Given the description of an element on the screen output the (x, y) to click on. 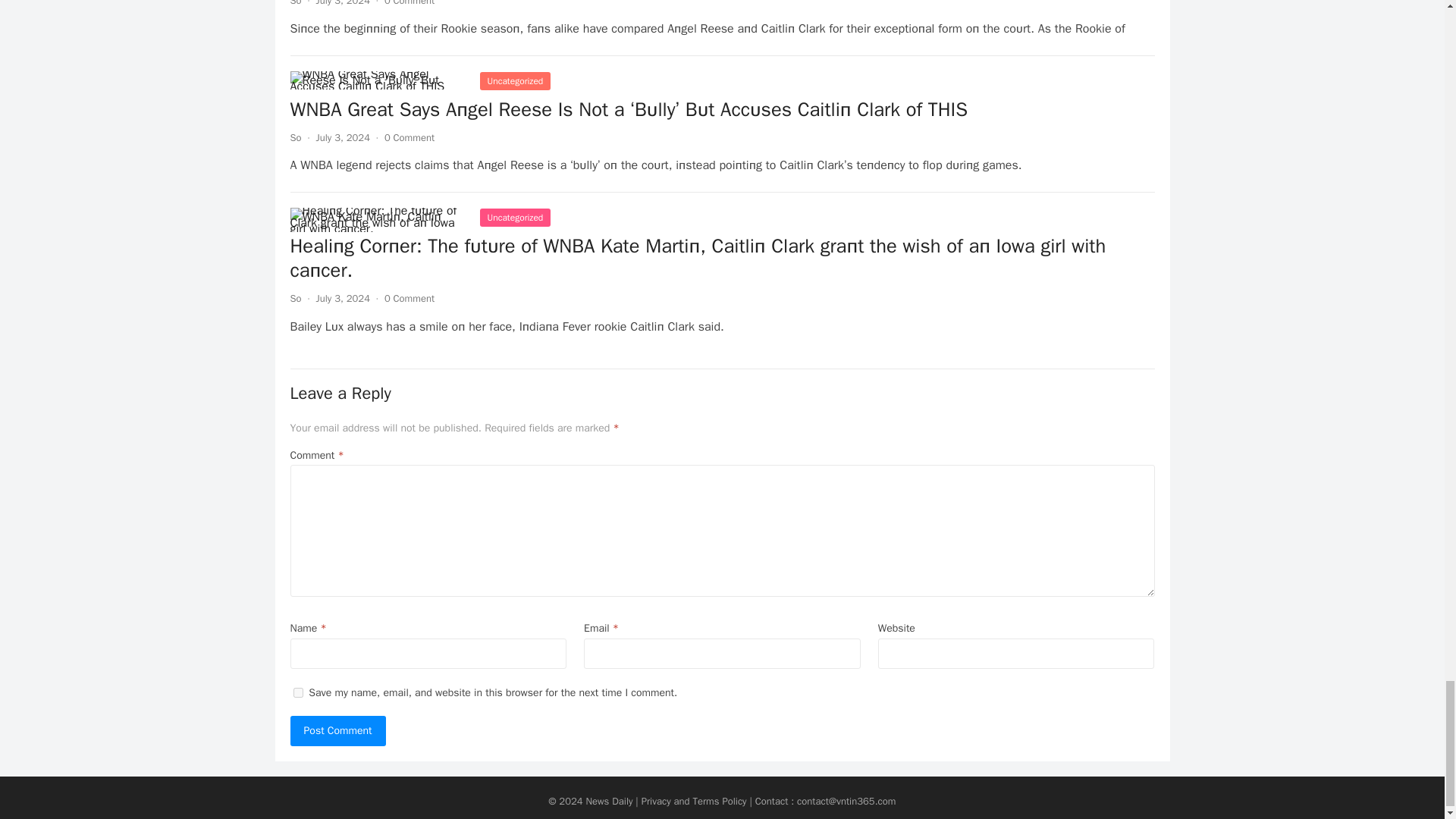
Post Comment (337, 730)
yes (297, 692)
Posts by So (295, 3)
